Given the description of an element on the screen output the (x, y) to click on. 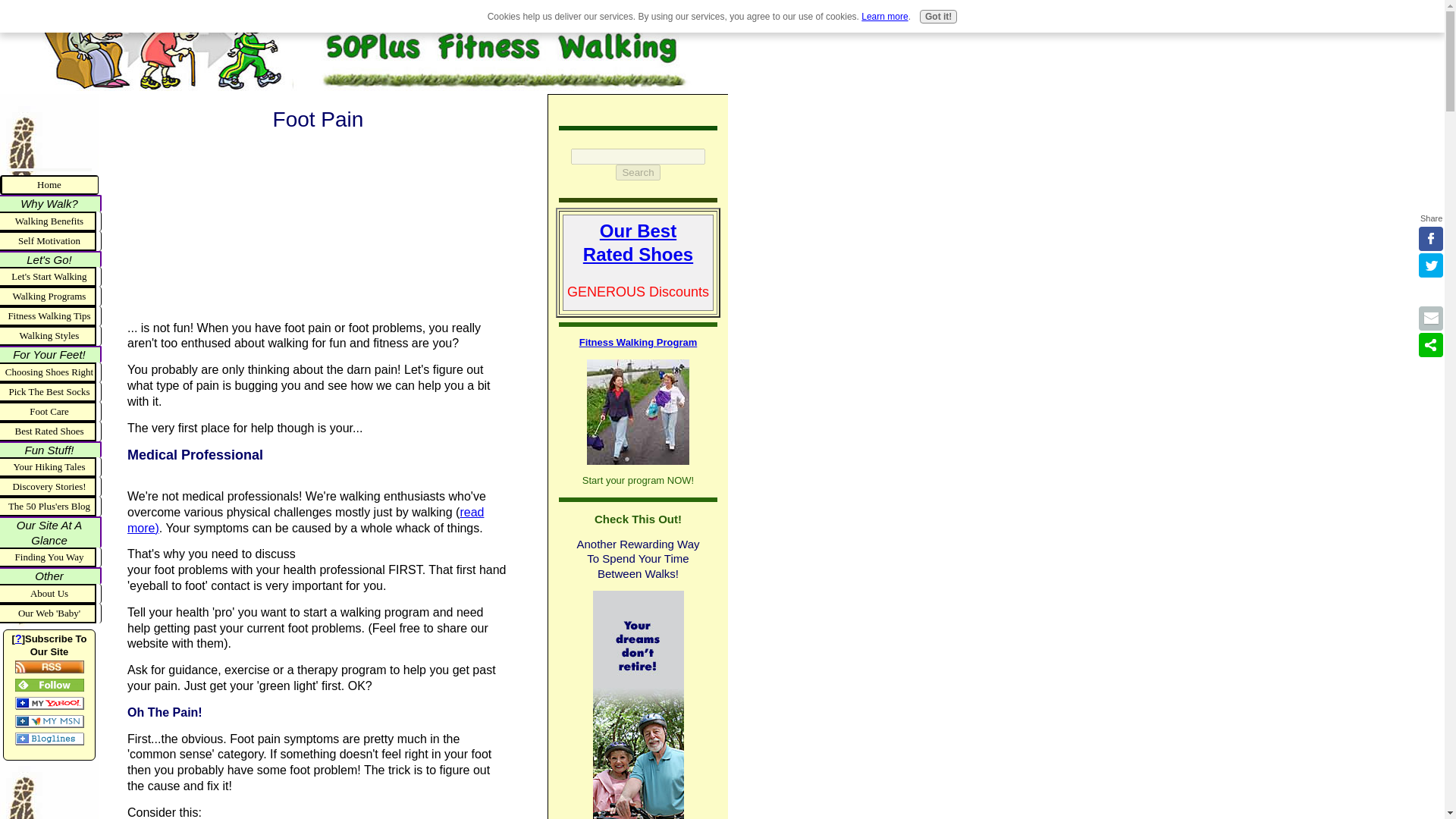
Advertisement (48, 128)
Walking Benefits (50, 220)
Choosing Shoes Right (50, 372)
Let's Start Walking (50, 276)
Walking Programs (50, 296)
Your Hiking Tales (50, 466)
Best Rated Shoes (50, 431)
Our Web 'Baby' (50, 613)
The 50 Plus'ers Blog (50, 506)
Advertisement (203, 219)
Search (637, 172)
Walking Styles (50, 335)
Fitness Walking Tips (50, 315)
Foot Care (50, 411)
Pick The Best Socks (50, 392)
